Given the description of an element on the screen output the (x, y) to click on. 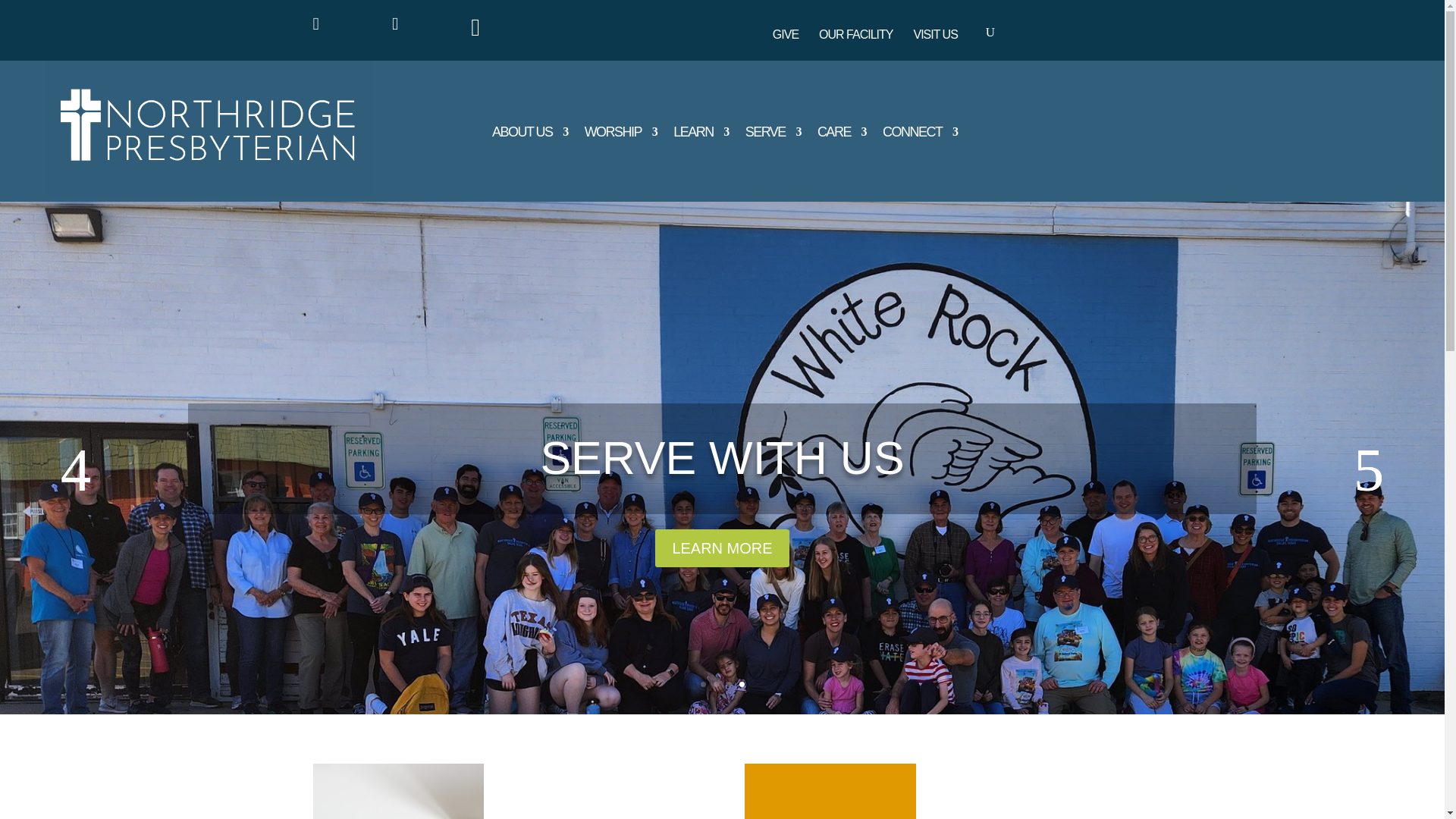
LEARN (700, 134)
OUR FACILITY (857, 37)
ABOUT US (529, 134)
GIVE (787, 37)
VISIT US (936, 37)
WORSHIP (621, 134)
SERVE (772, 134)
CARE (841, 134)
Northridge Presbyterian Church (208, 127)
CONNECT (920, 134)
